Given the description of an element on the screen output the (x, y) to click on. 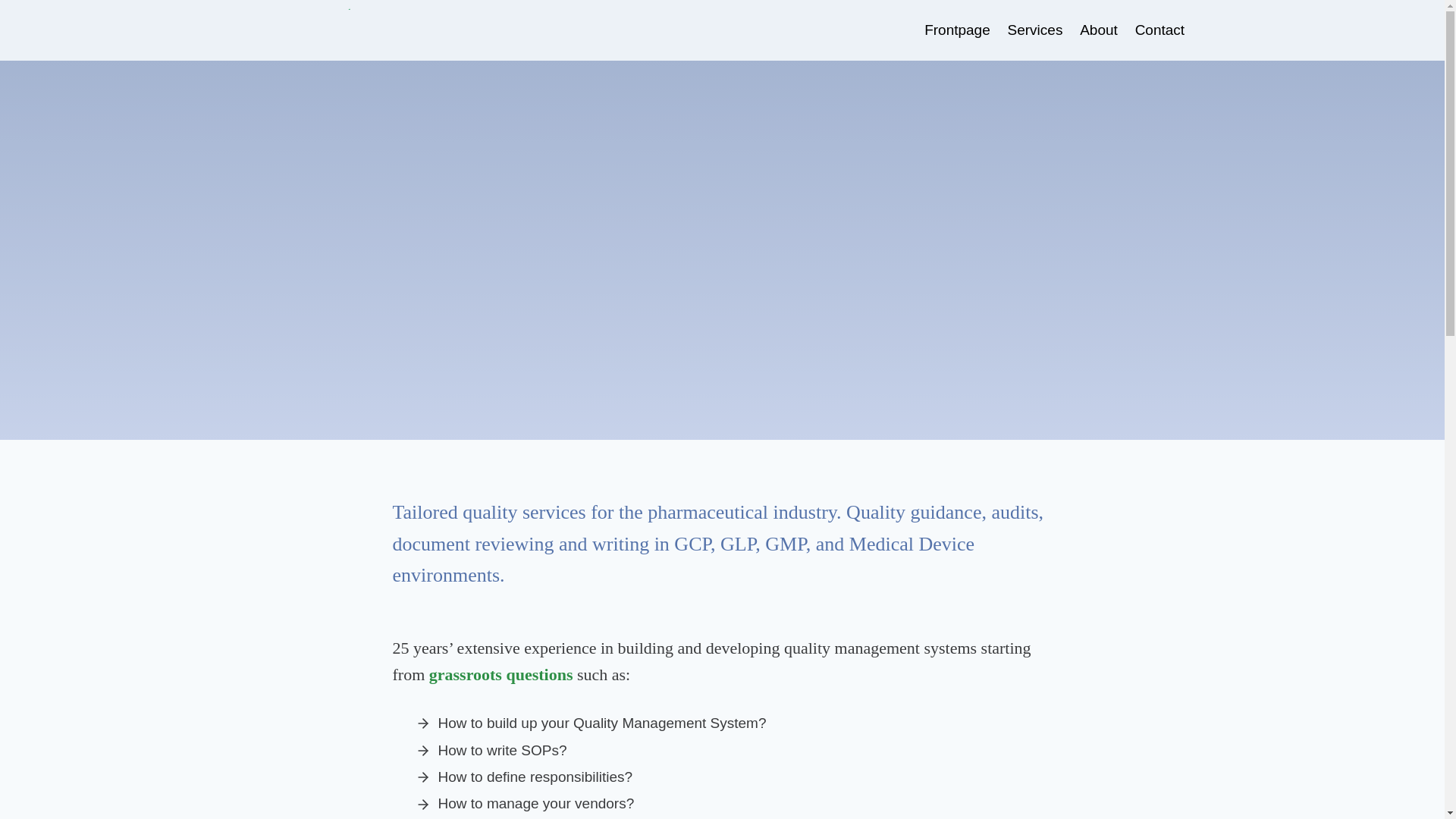
Contact (1158, 29)
About (1098, 29)
Services (1034, 29)
Frontpage (956, 29)
